Given the description of an element on the screen output the (x, y) to click on. 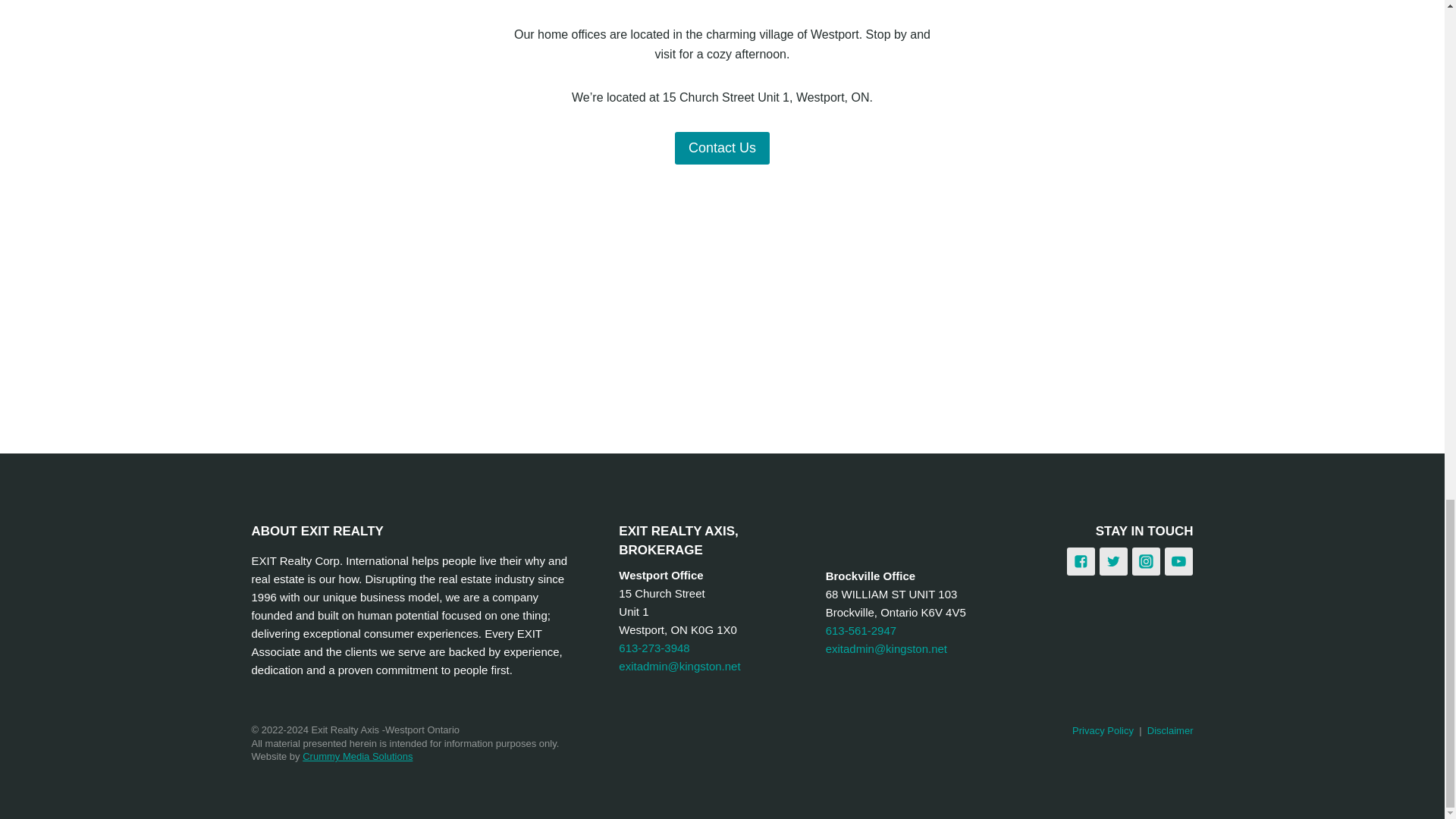
Contact Us (722, 147)
Disclaimer (1170, 730)
613-561-2947 (860, 630)
613-273-3948 (653, 647)
Crummy Media Solutions (357, 756)
Privacy Policy (1102, 730)
